Given the description of an element on the screen output the (x, y) to click on. 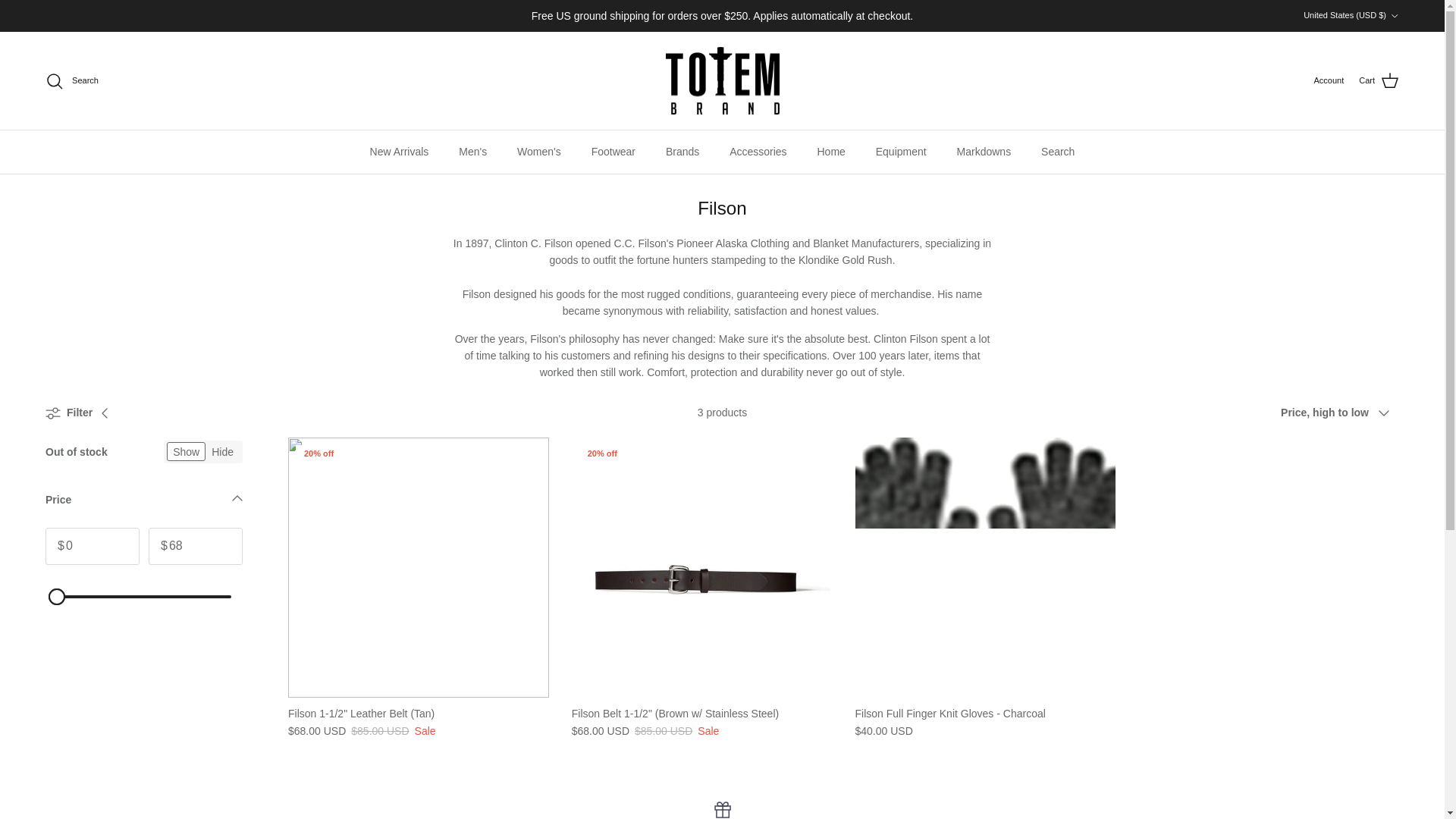
Account (1328, 80)
Cart (1378, 80)
Search (72, 81)
Totem Brand Co. (721, 80)
Men's (472, 151)
New Arrivals (399, 151)
